Given the description of an element on the screen output the (x, y) to click on. 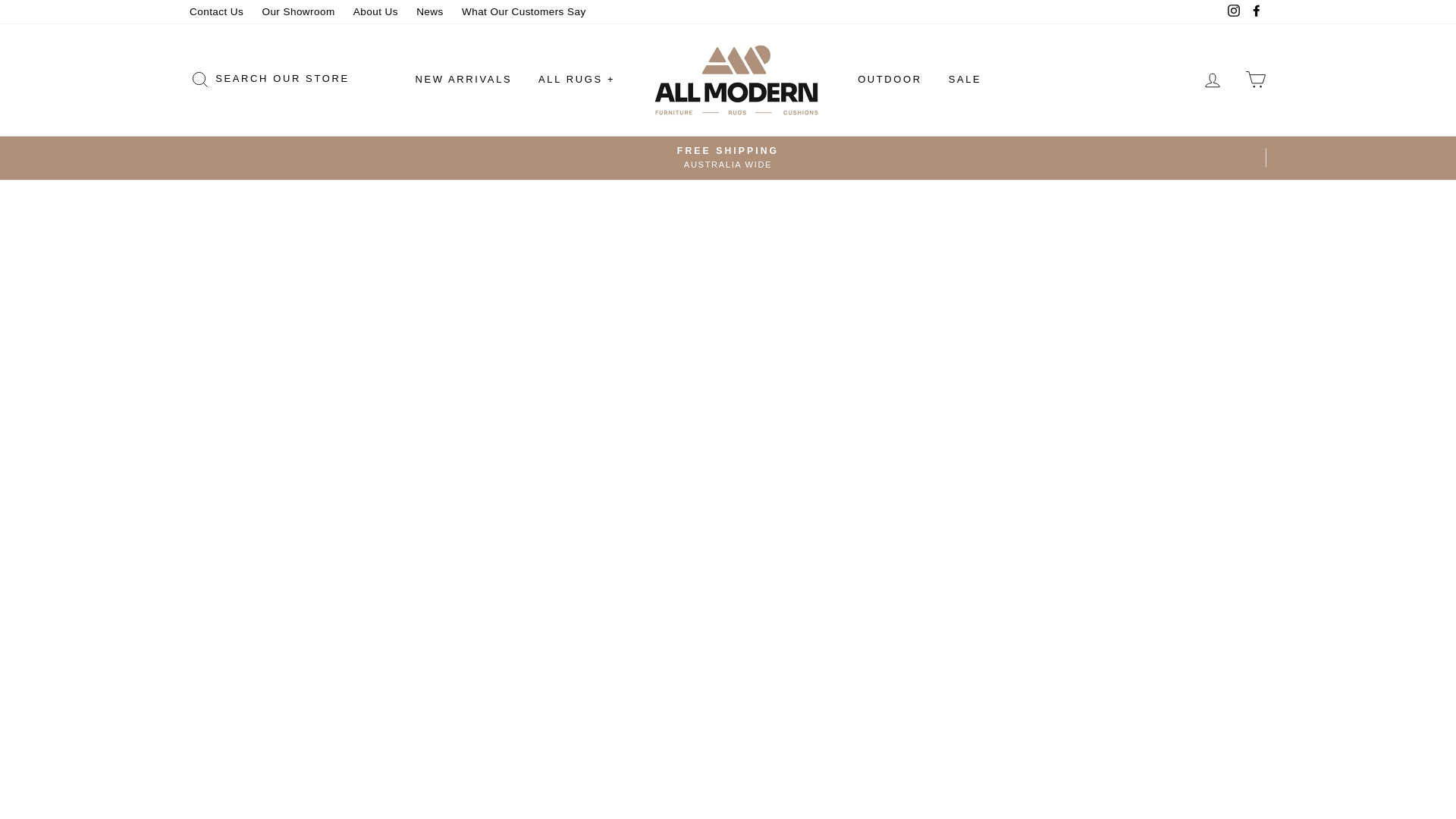
What Our Customers Say (524, 12)
NEW ARRIVALS (462, 79)
Our Showroom (297, 12)
About Us (376, 12)
Contact Us (216, 12)
SEARCH OUR STORE (269, 79)
News (430, 12)
